Given the description of an element on the screen output the (x, y) to click on. 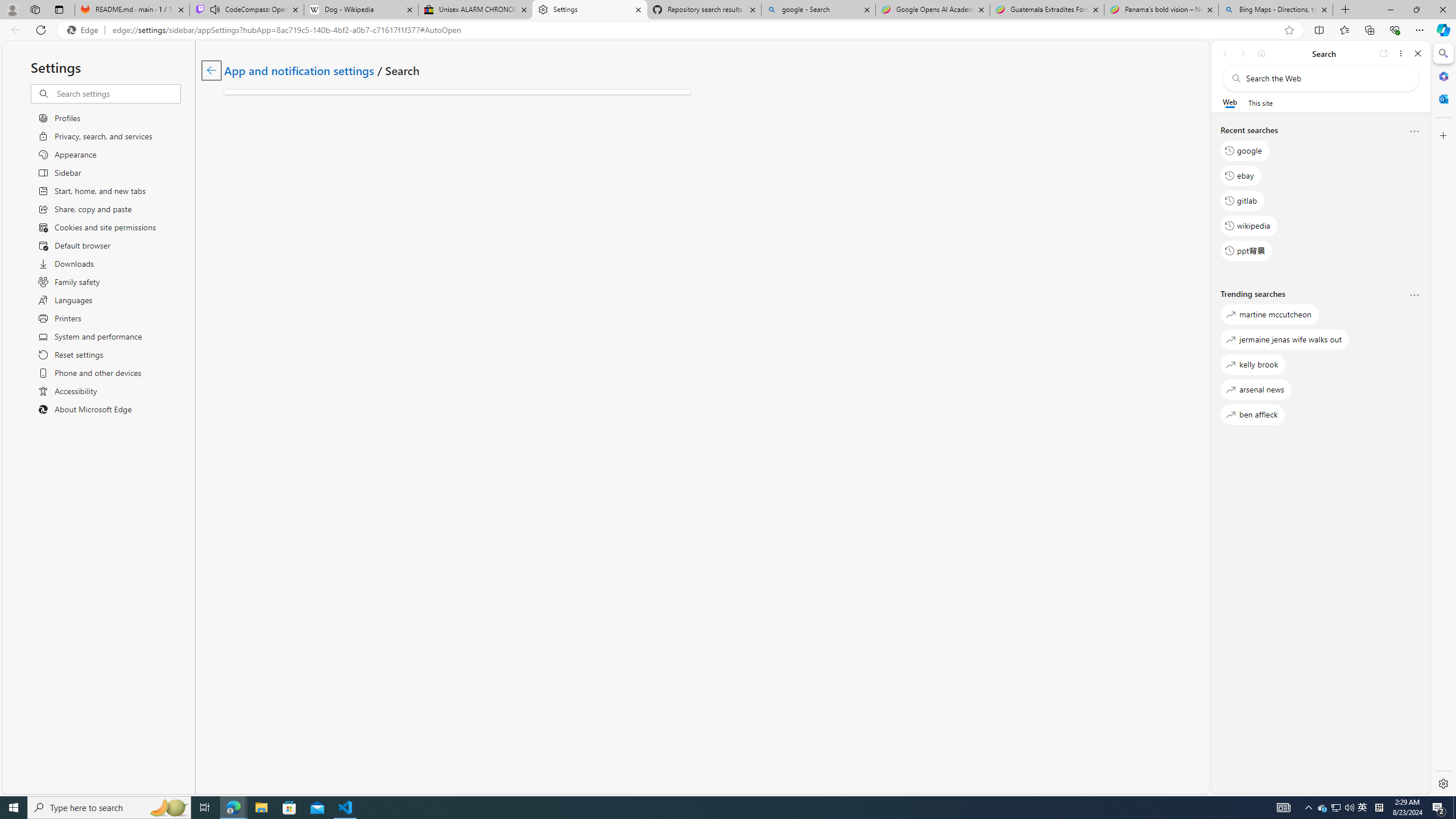
Go back to App and notification settings page. (210, 70)
jermaine jenas wife walks out (1284, 339)
gitlab (1242, 200)
